Given the description of an element on the screen output the (x, y) to click on. 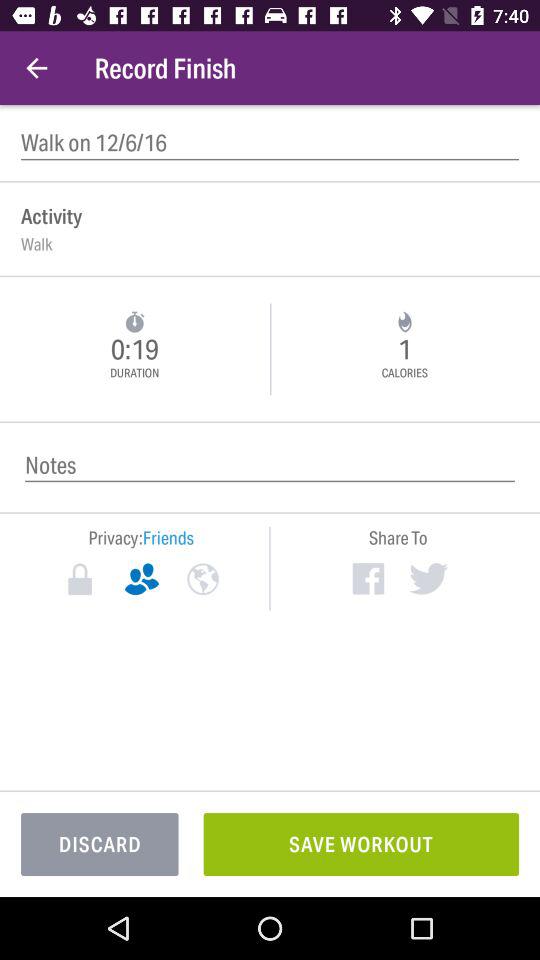
turn on the discard at the bottom left corner (99, 844)
